Given the description of an element on the screen output the (x, y) to click on. 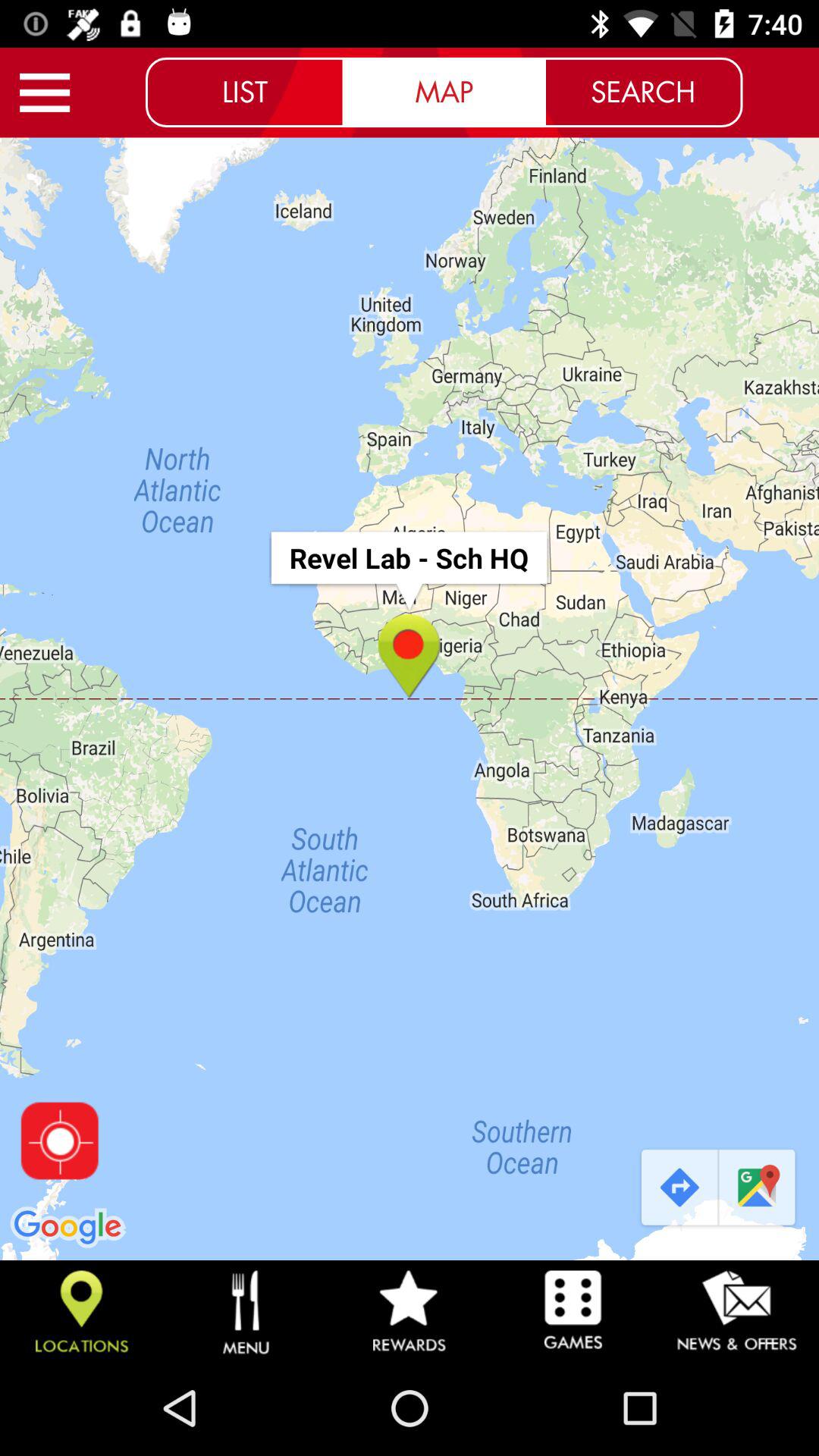
geo location (59, 1140)
